Given the description of an element on the screen output the (x, y) to click on. 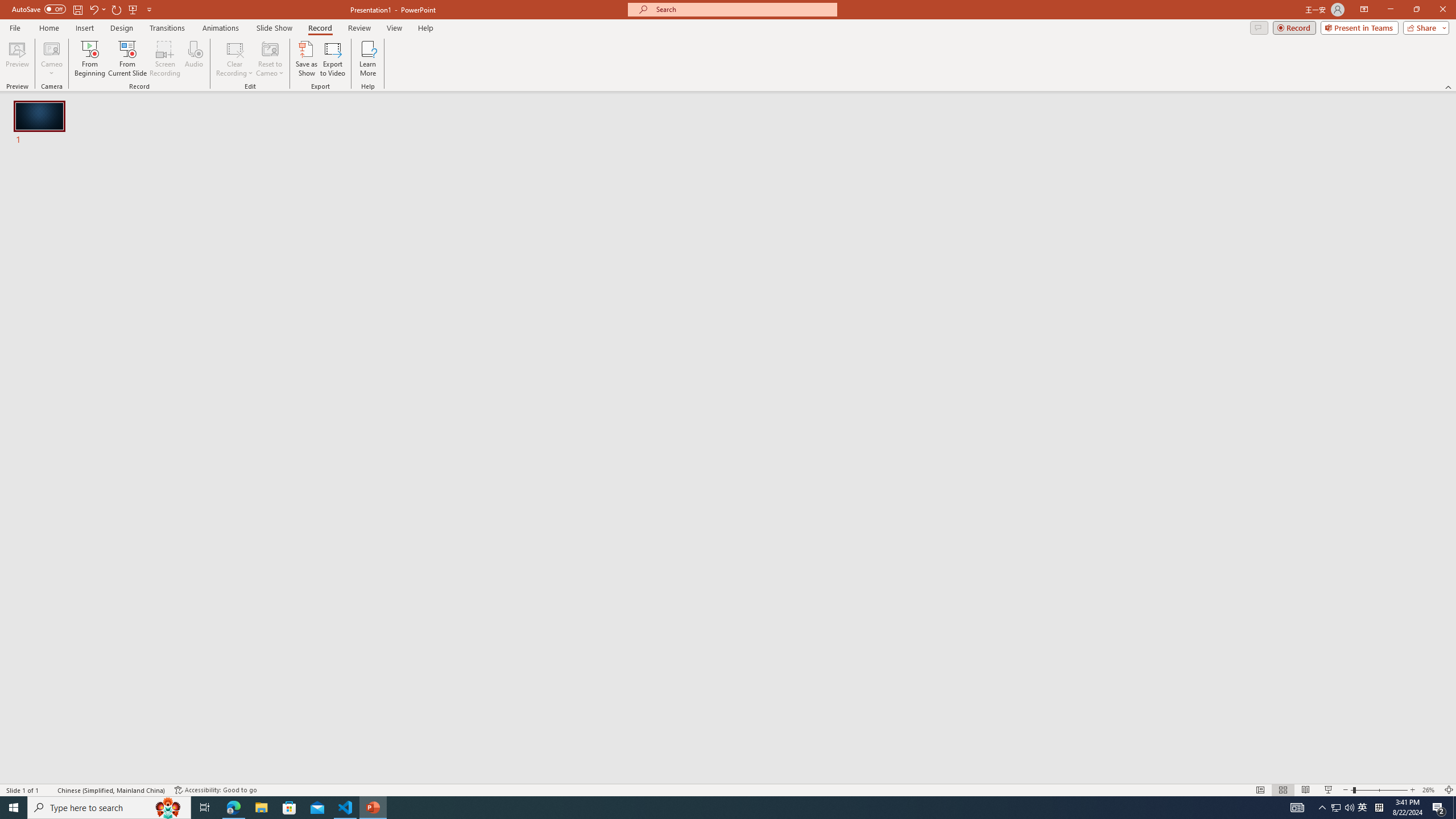
Zoom 26% (1430, 790)
